Given the description of an element on the screen output the (x, y) to click on. 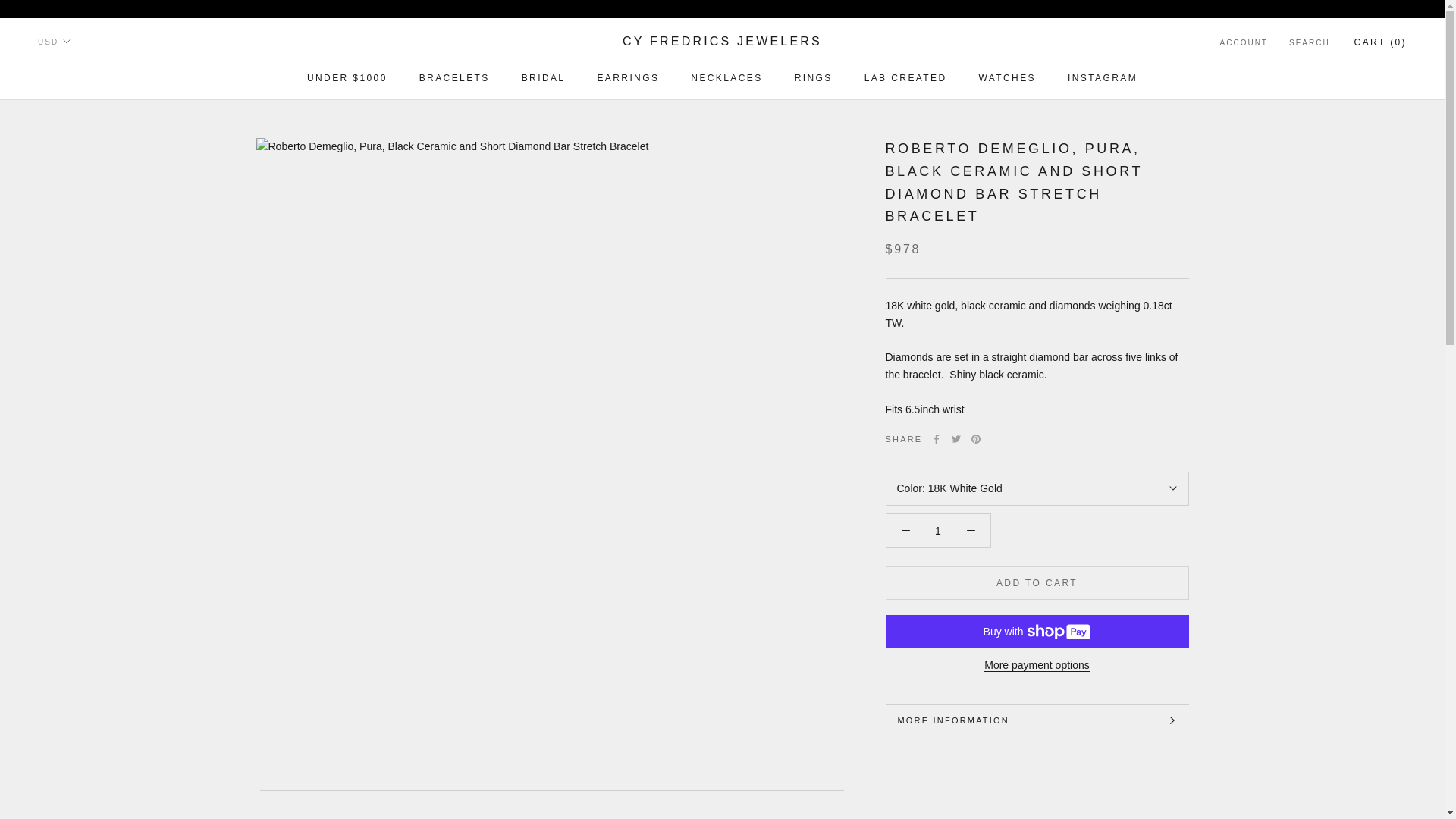
CY FREDRICS JEWELERS (725, 77)
SEARCH (722, 41)
ACCOUNT (627, 77)
1 (905, 77)
Currency selector (1102, 77)
